Given the description of an element on the screen output the (x, y) to click on. 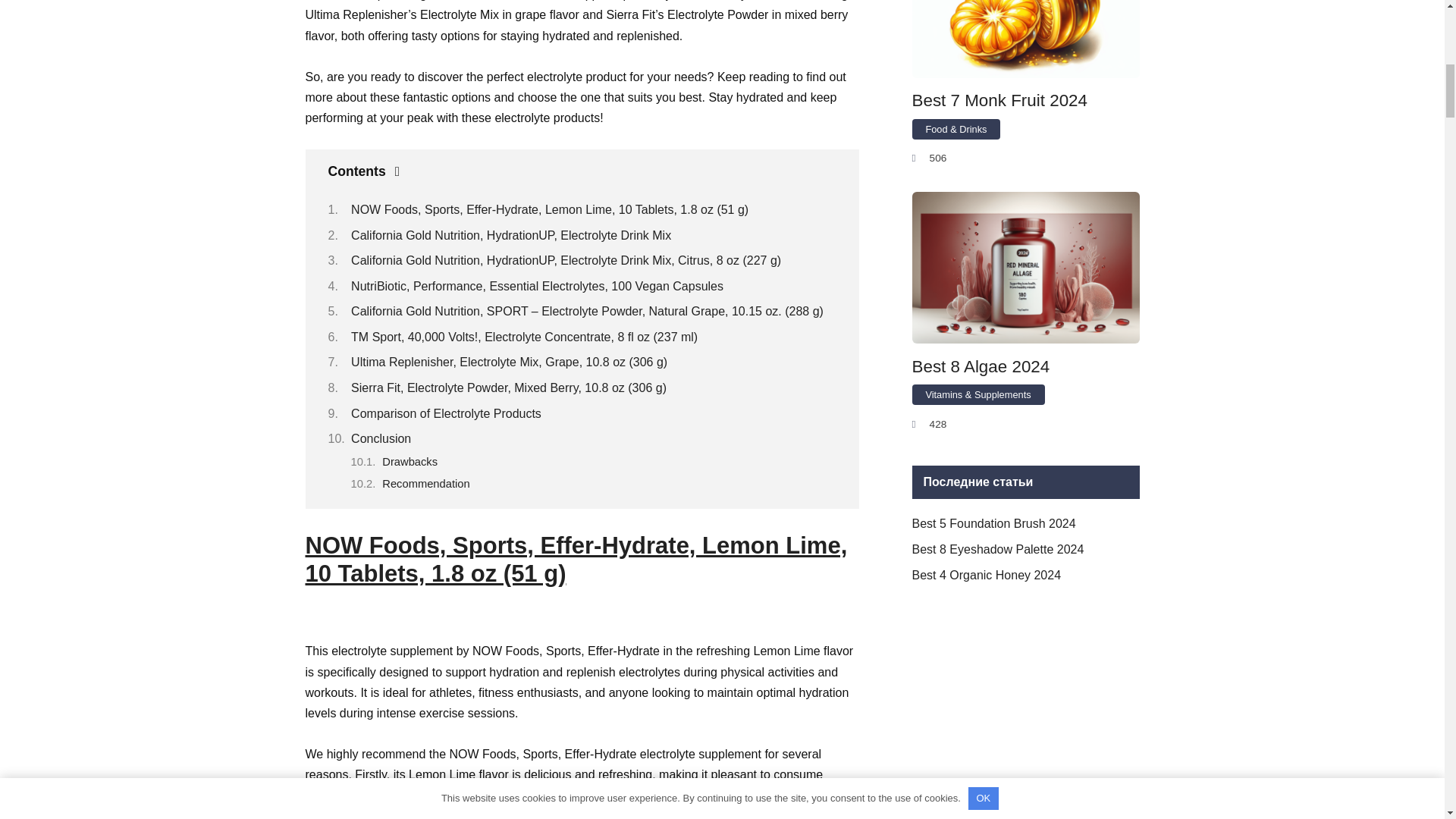
Comparison of Electrolyte Products (445, 413)
Drawbacks (409, 461)
Recommendation (424, 483)
Conclusion (380, 438)
